Given the description of an element on the screen output the (x, y) to click on. 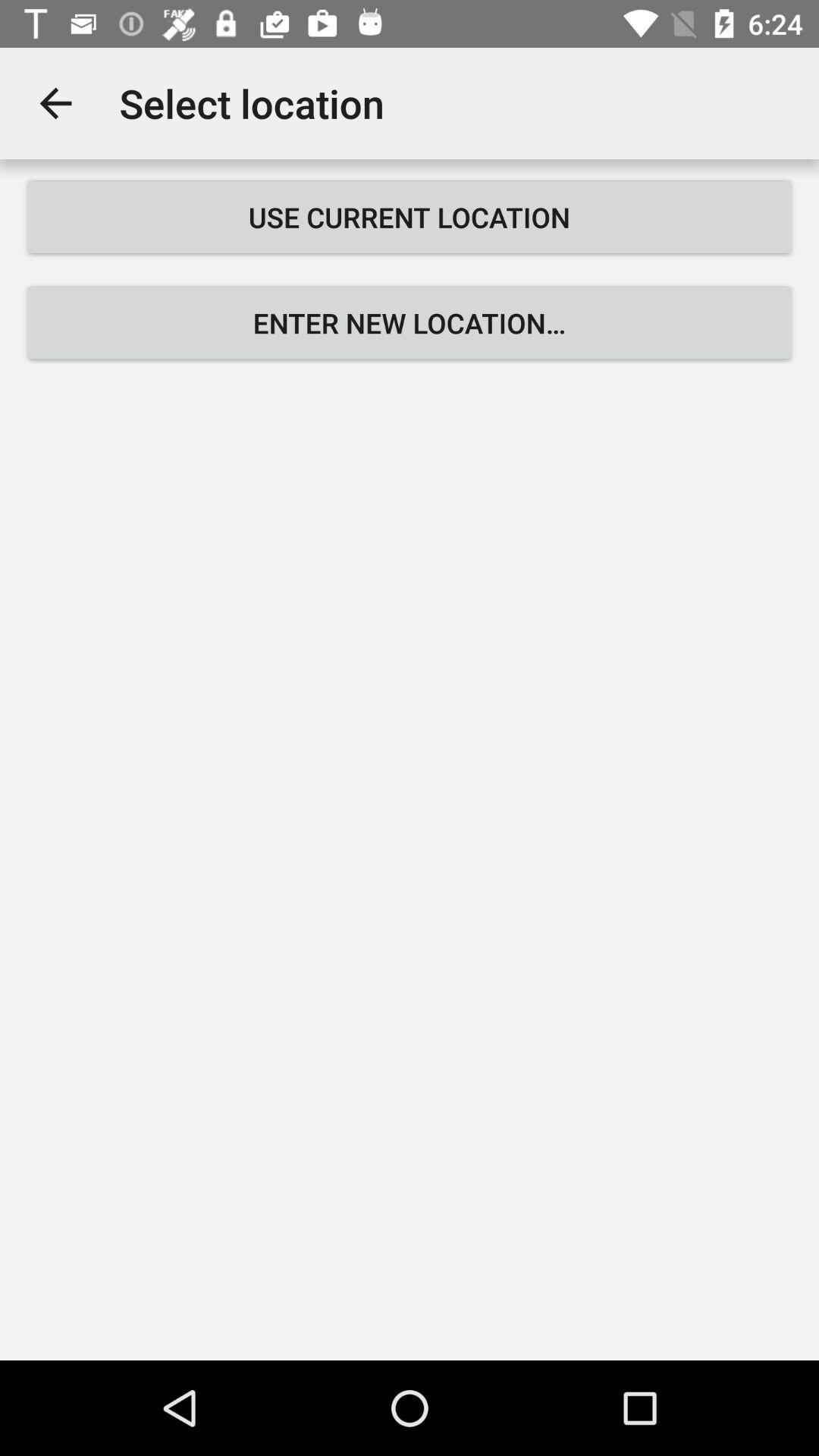
turn off the use current location icon (409, 217)
